Given the description of an element on the screen output the (x, y) to click on. 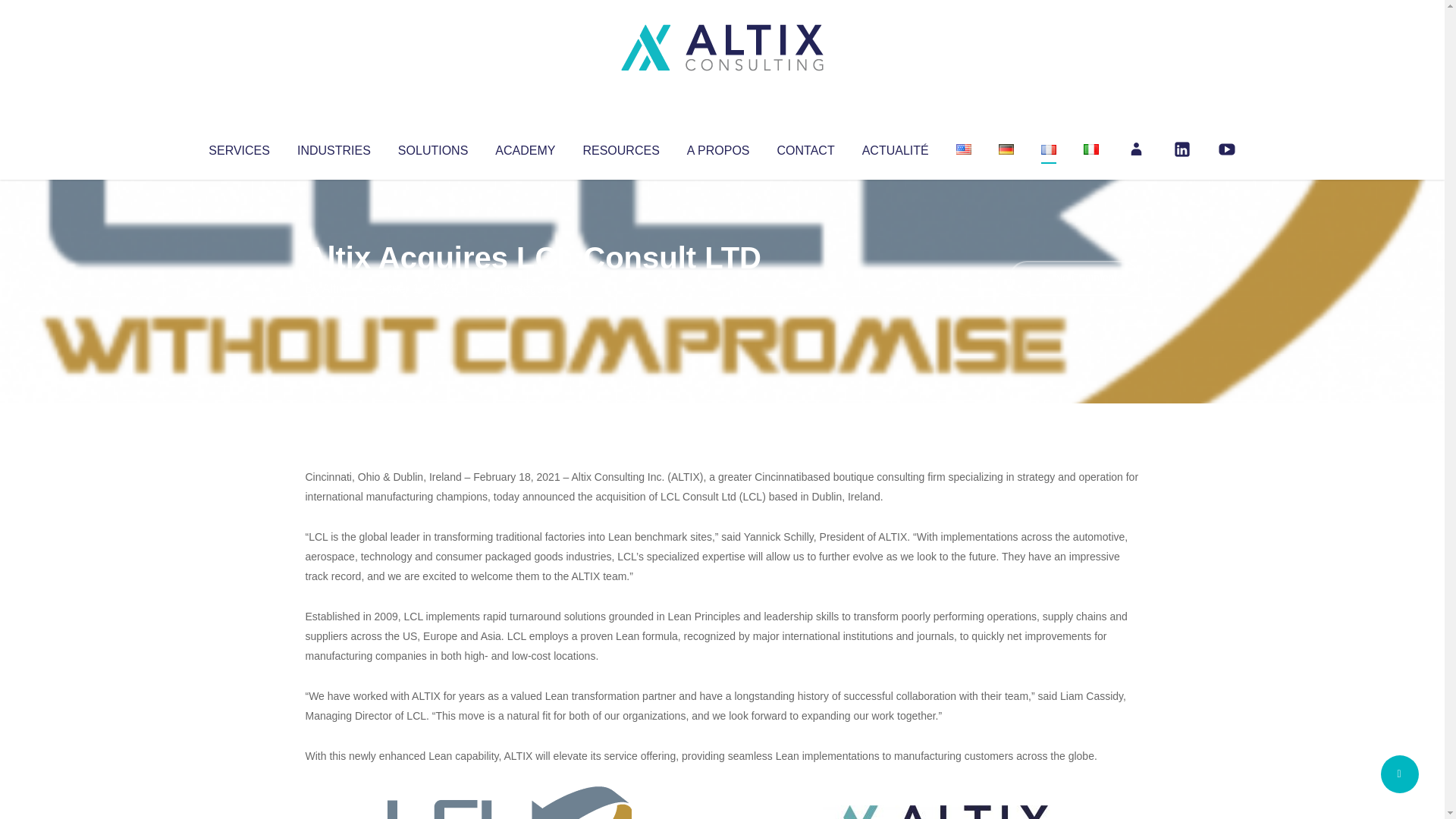
Altix (333, 287)
ACADEMY (524, 146)
No Comments (1073, 278)
Articles par Altix (333, 287)
SOLUTIONS (432, 146)
INDUSTRIES (334, 146)
SERVICES (238, 146)
RESOURCES (620, 146)
Uncategorized (530, 287)
A PROPOS (718, 146)
